Given the description of an element on the screen output the (x, y) to click on. 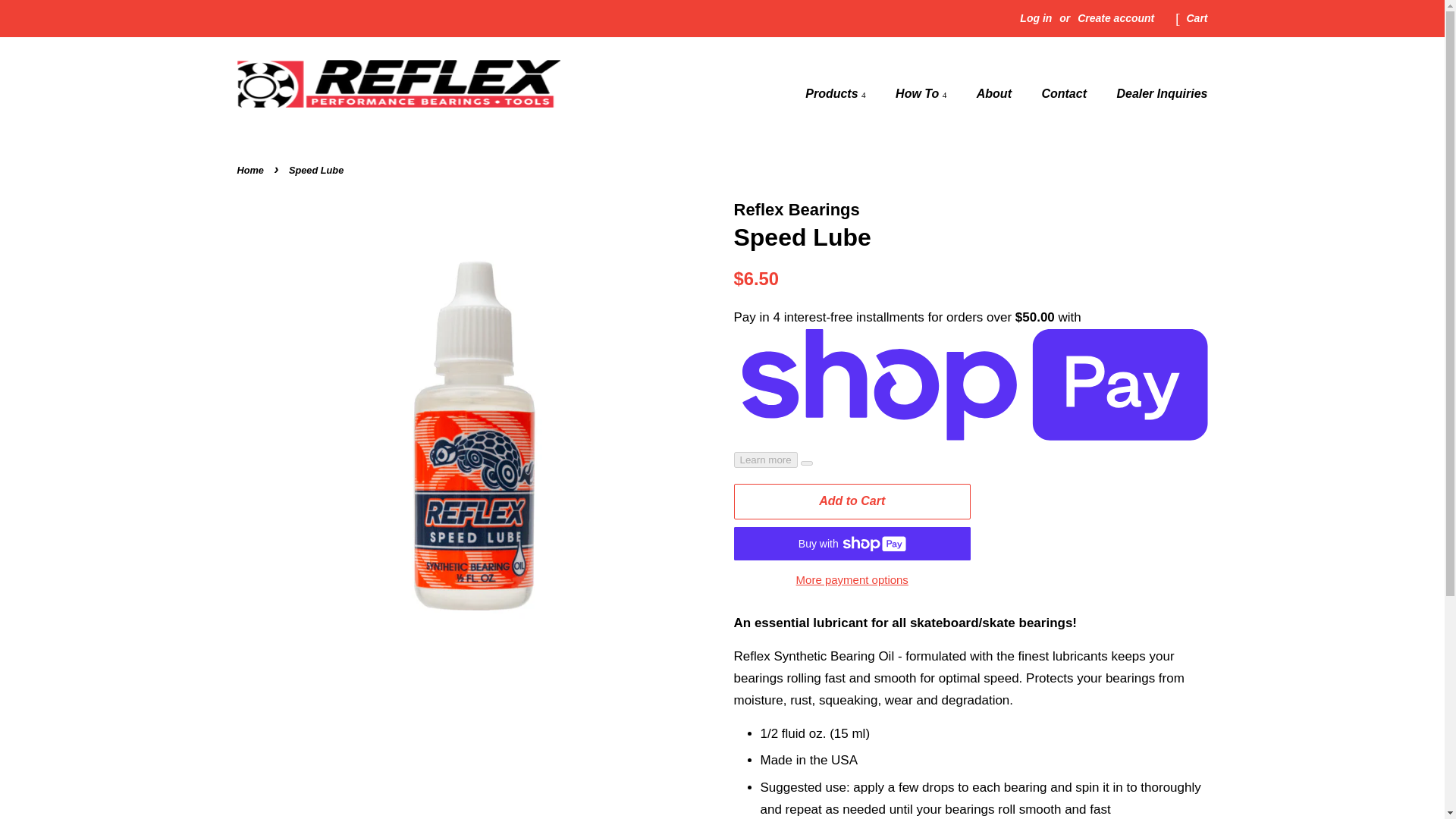
Add to Cart (852, 501)
More payment options (852, 578)
How To (921, 92)
Create account (1115, 18)
Contact (1065, 92)
Back to the frontpage (250, 170)
About (995, 92)
Log in (1035, 18)
Dealer Inquiries (1156, 92)
Home (250, 170)
